Given the description of an element on the screen output the (x, y) to click on. 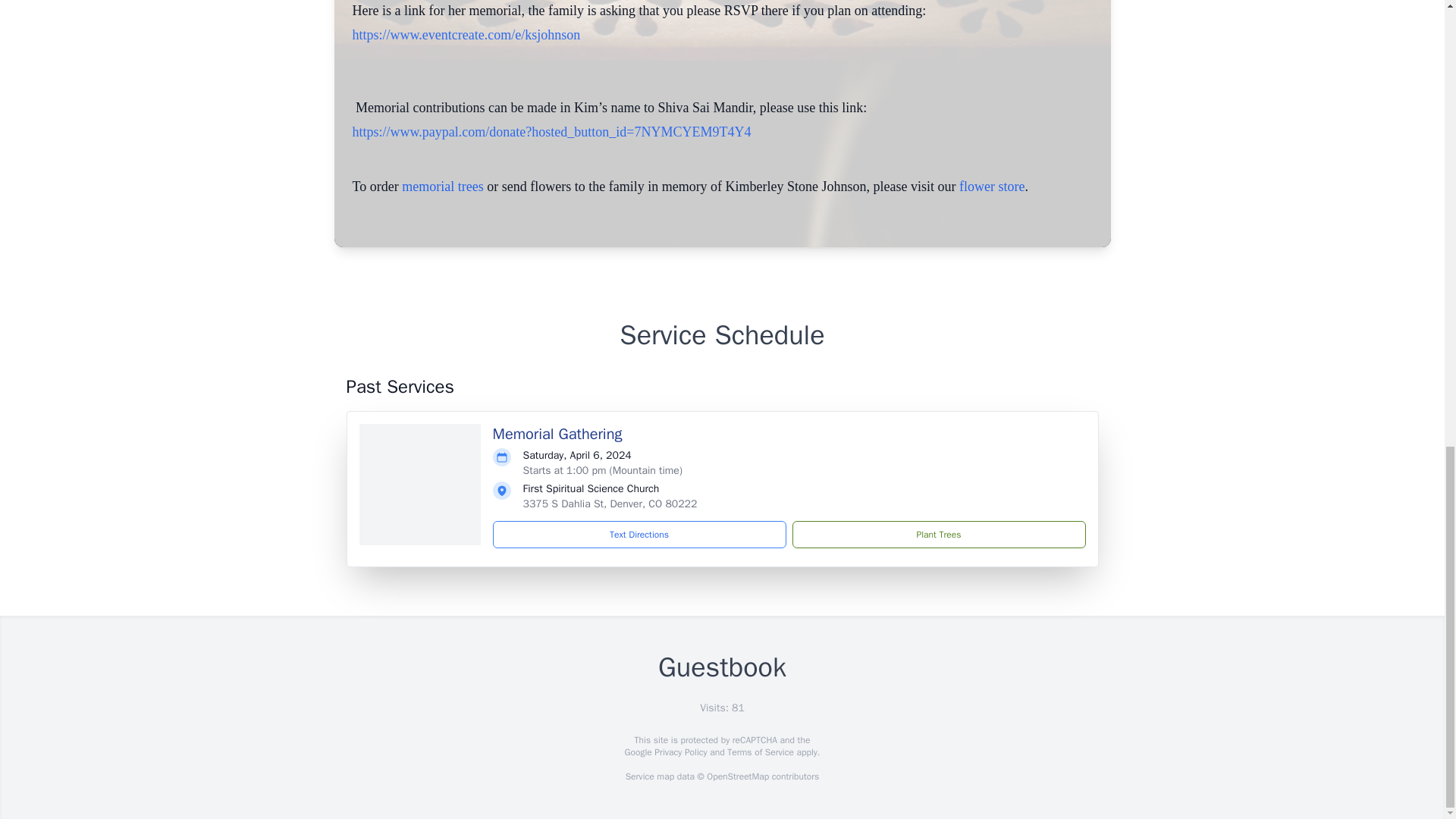
memorial trees (442, 186)
3375 S Dahlia St, Denver, CO 80222 (609, 503)
Privacy Policy (679, 752)
flower store (992, 186)
OpenStreetMap (737, 776)
Terms of Service (759, 752)
Plant Trees (938, 533)
Text Directions (639, 533)
